Given the description of an element on the screen output the (x, y) to click on. 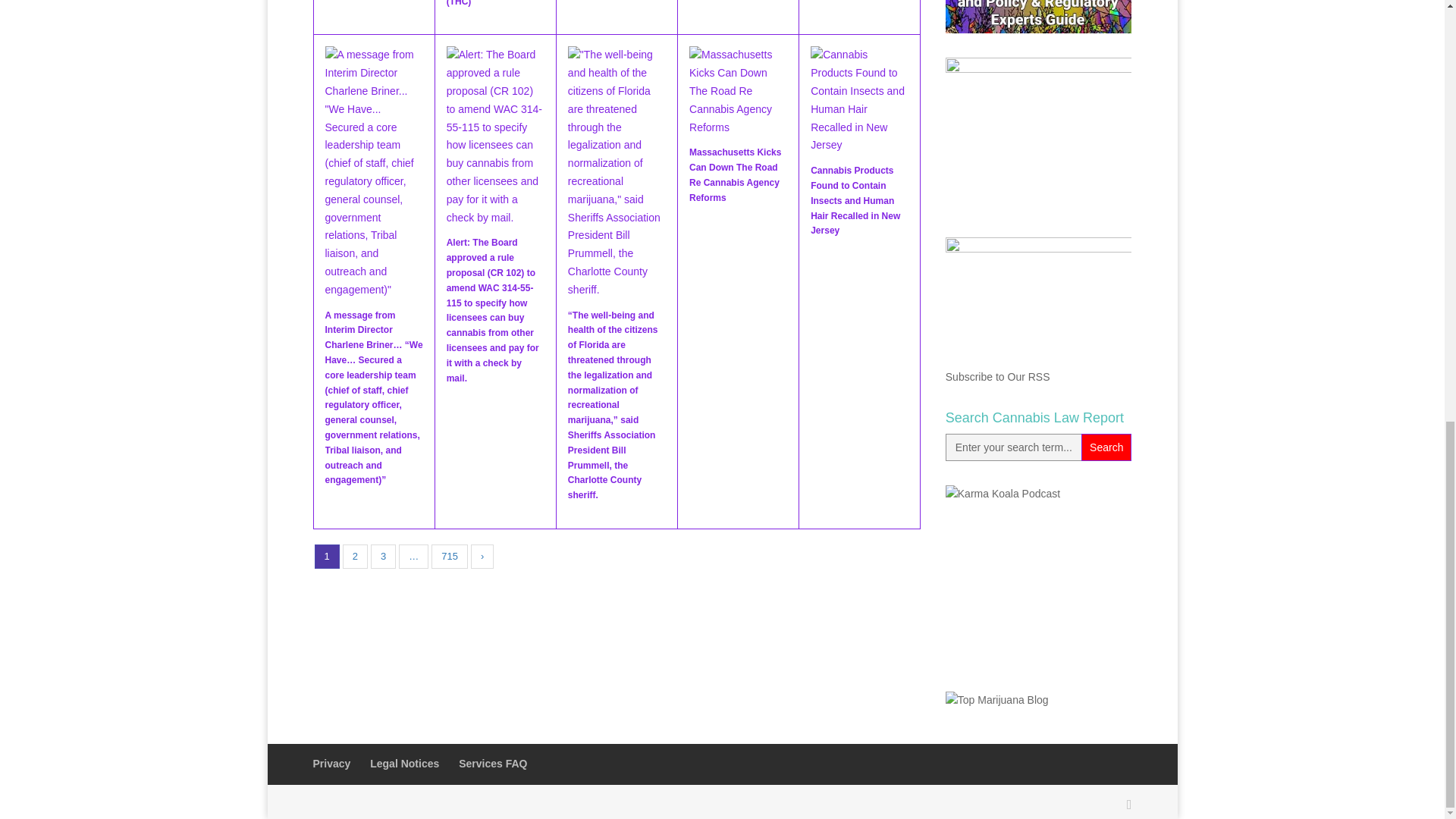
Search (1106, 447)
Search (1106, 447)
